Given the description of an element on the screen output the (x, y) to click on. 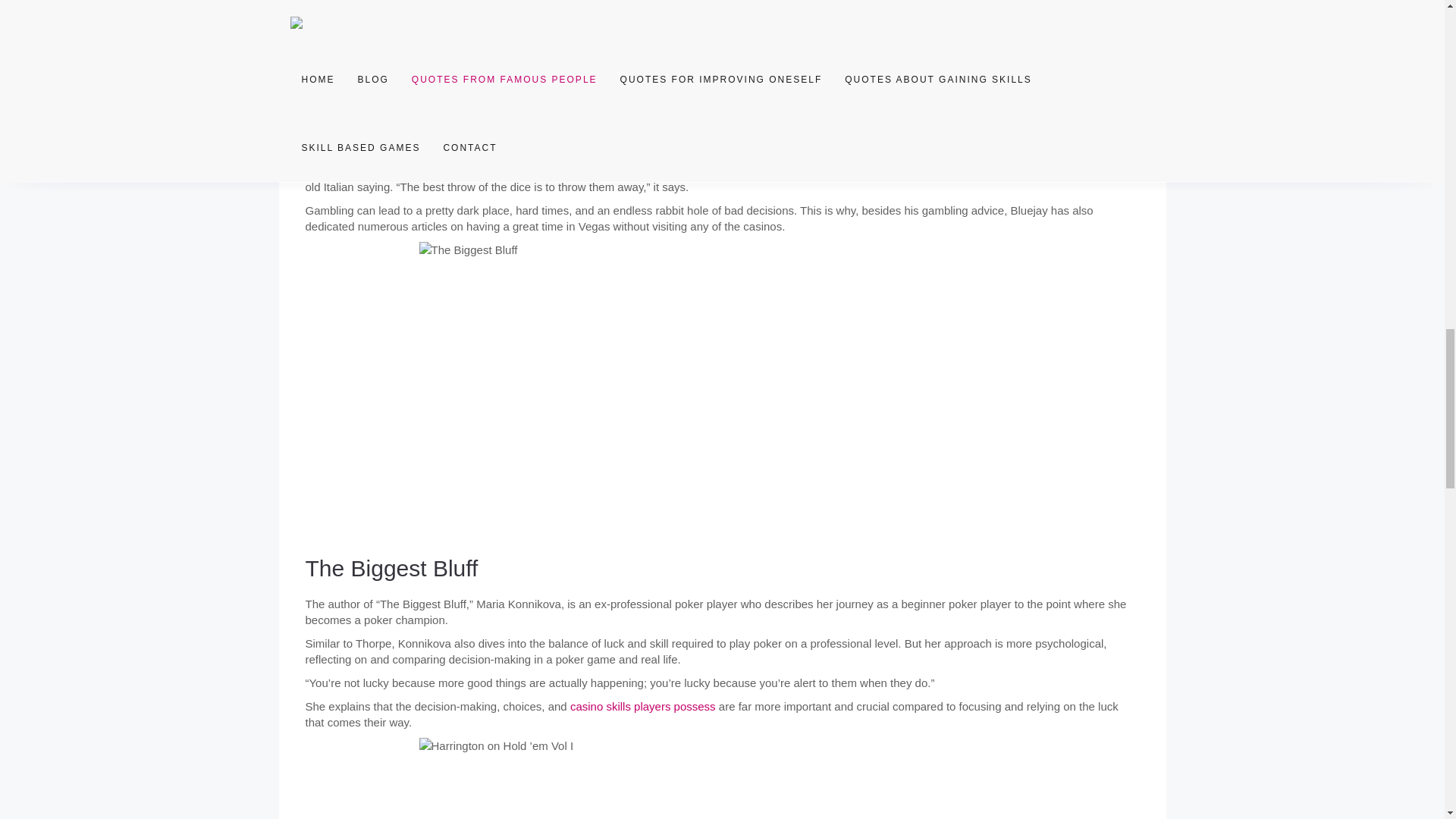
casino skills players possess (643, 706)
